Given the description of an element on the screen output the (x, y) to click on. 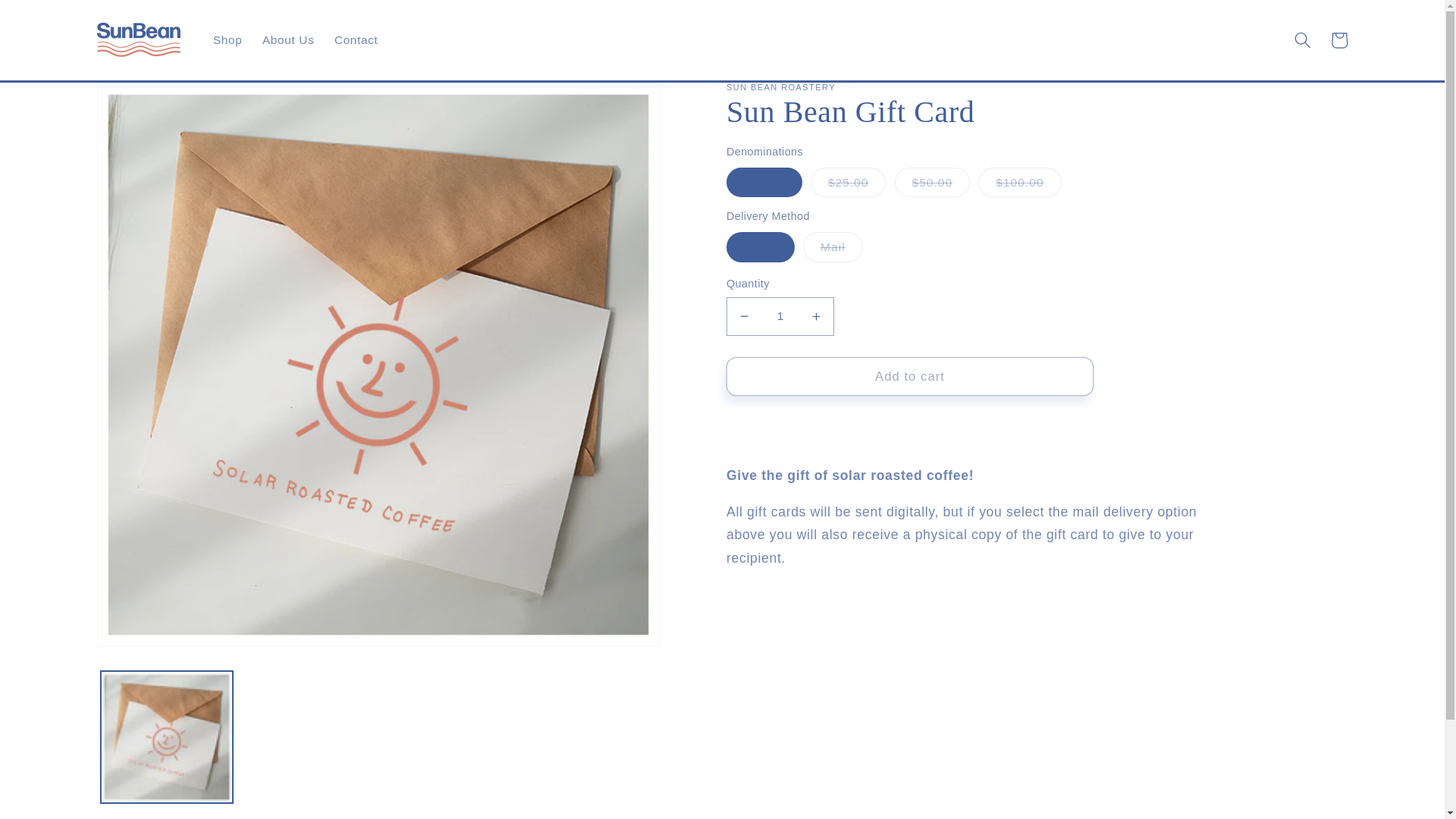
Skip to content (50, 19)
About Us (287, 39)
1 (780, 316)
Skip to product information (146, 101)
Contact (356, 39)
Add to cart (909, 376)
Shop (227, 39)
Cart (1338, 40)
